Given the description of an element on the screen output the (x, y) to click on. 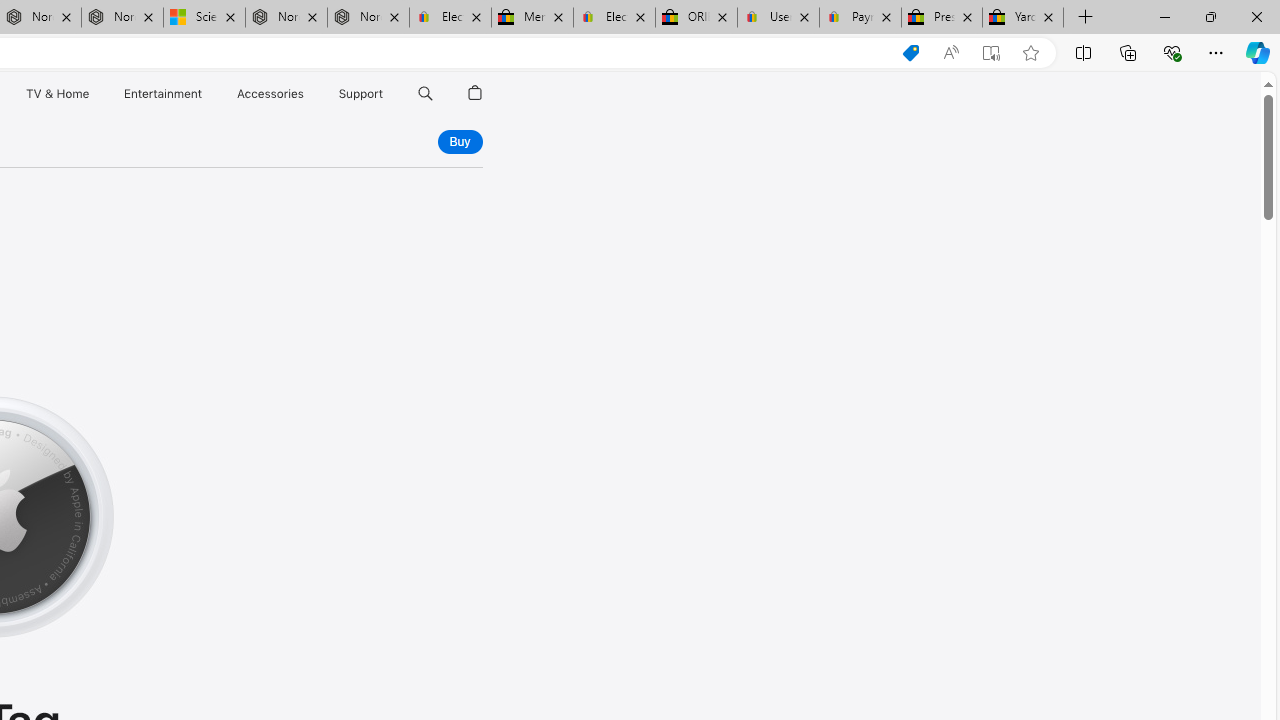
Search apple.com (425, 93)
Nordace - FAQ (368, 17)
Shopping in Microsoft Edge (910, 53)
Support menu (387, 93)
Accessories (269, 93)
Support (361, 93)
Accessories (269, 93)
Enter Immersive Reader (F9) (991, 53)
Support (361, 93)
Class: globalnav-item globalnav-search shift-0-1 (425, 93)
